Given the description of an element on the screen output the (x, y) to click on. 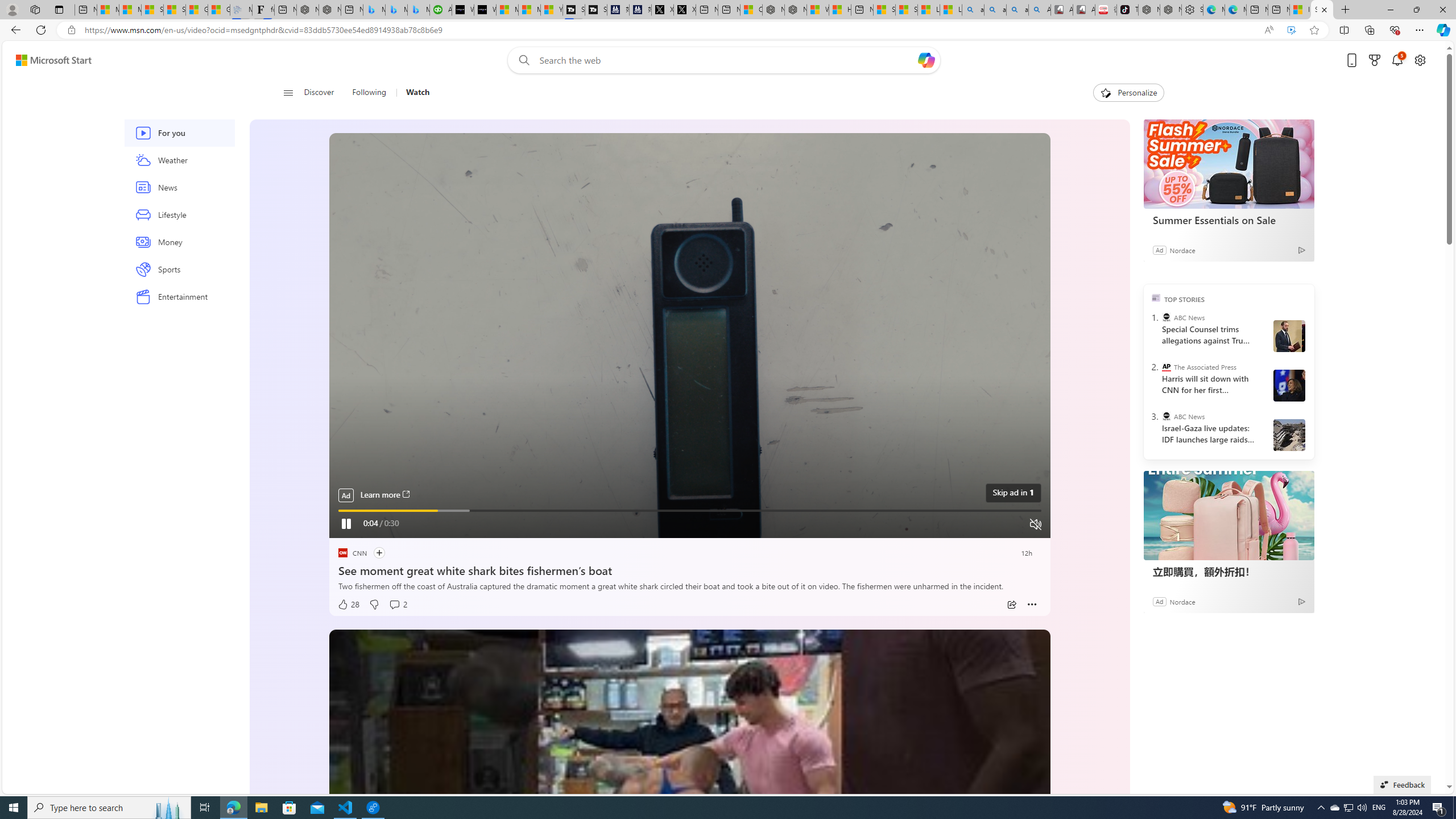
More (1031, 604)
video progress bar (689, 510)
More (1031, 604)
Learn more (385, 494)
Amazon Echo Robot - Search Images (1039, 9)
ABC News (1165, 415)
I Gained 20 Pounds of Muscle in 30 Days! | Watch (1300, 9)
Class: button-glyph (287, 92)
